Given the description of an element on the screen output the (x, y) to click on. 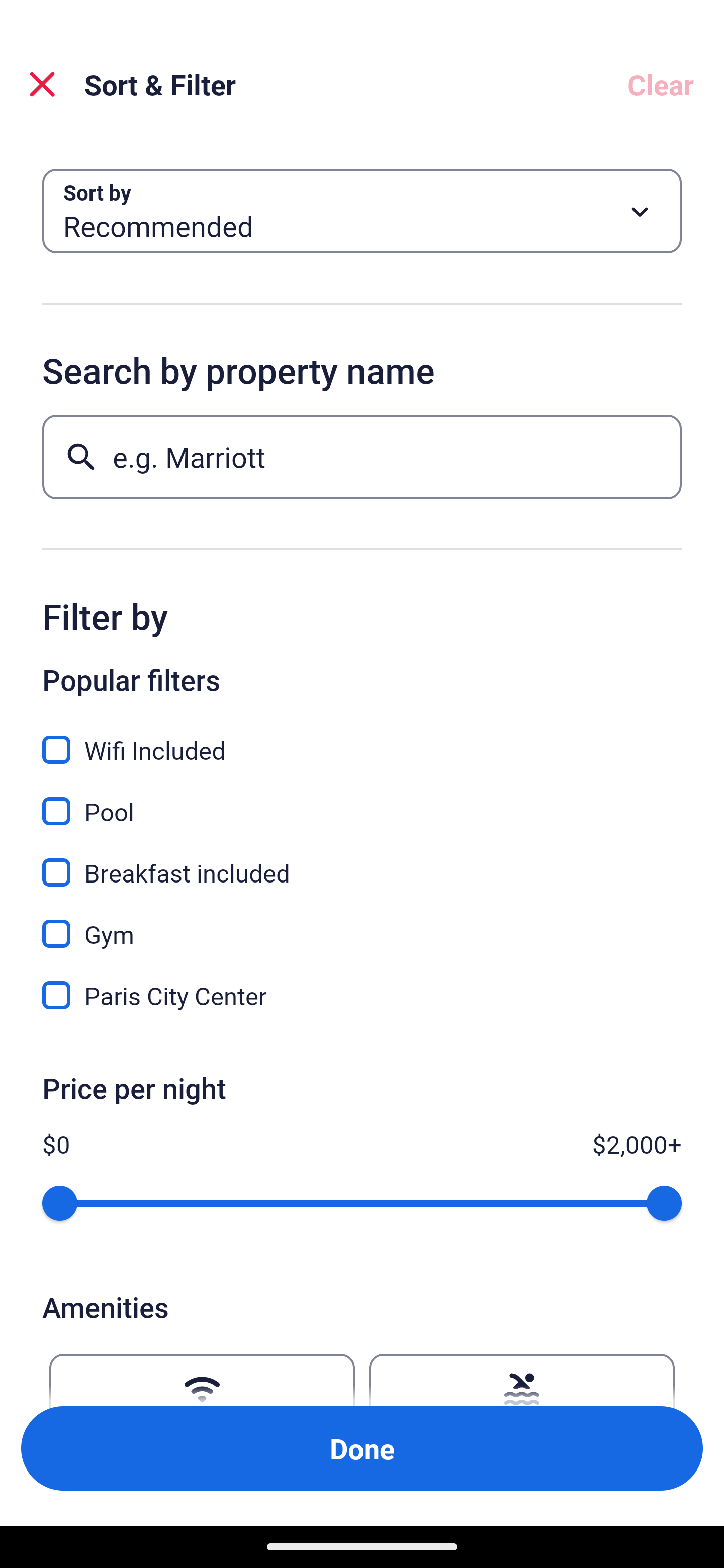
Close Sort and Filter (42, 84)
Clear (660, 84)
Sort by Button Recommended (361, 211)
e.g. Marriott Button (361, 455)
Wifi Included, Wifi Included (361, 738)
Pool, Pool (361, 800)
Breakfast included, Breakfast included (361, 861)
Gym, Gym (361, 922)
Paris City Center, Paris City Center (361, 995)
Apply and close Sort and Filter Done (361, 1448)
